Given the description of an element on the screen output the (x, y) to click on. 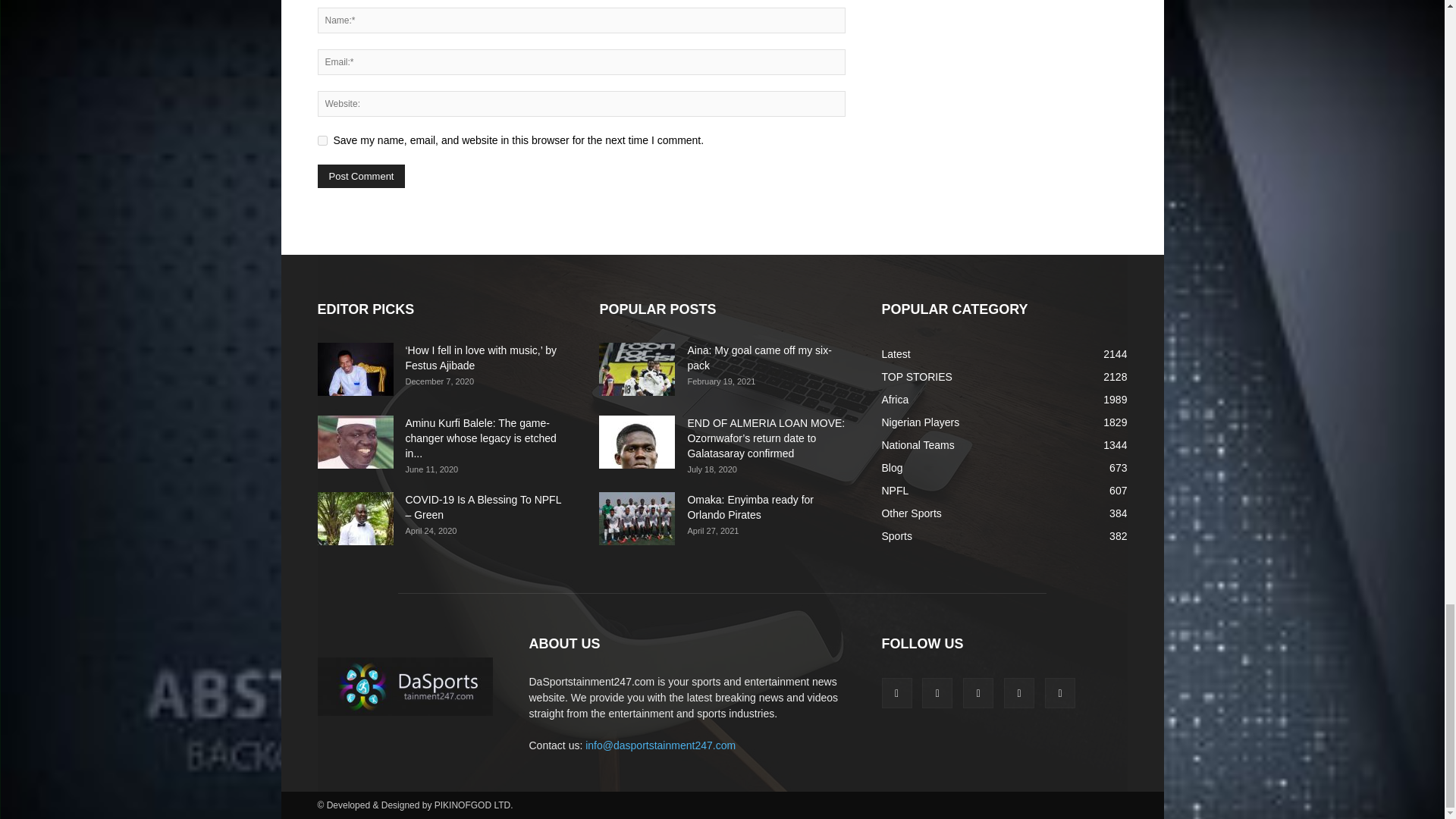
yes (321, 140)
Post Comment (360, 176)
